Given the description of an element on the screen output the (x, y) to click on. 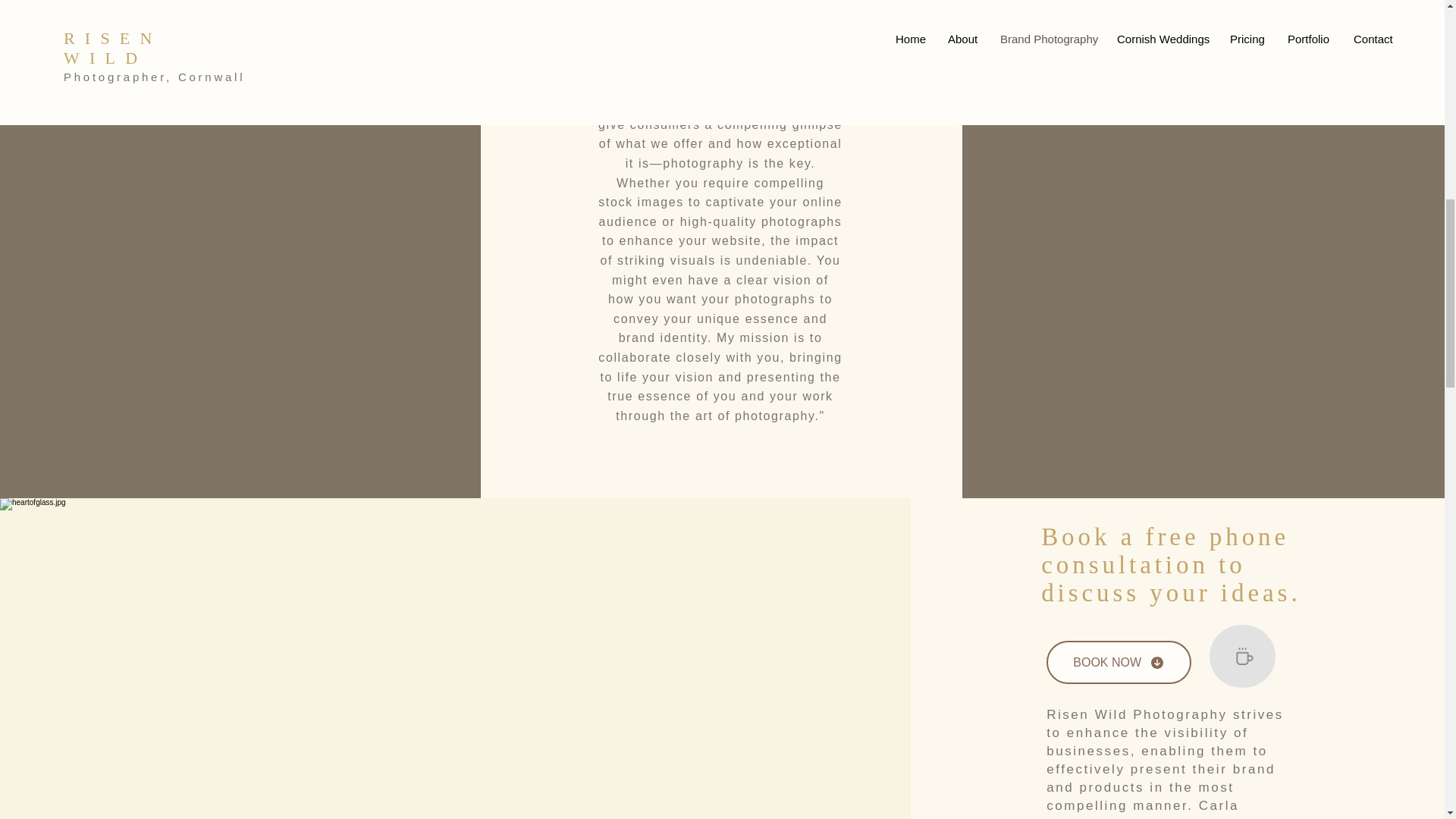
BOOK NOW (1118, 661)
